Given the description of an element on the screen output the (x, y) to click on. 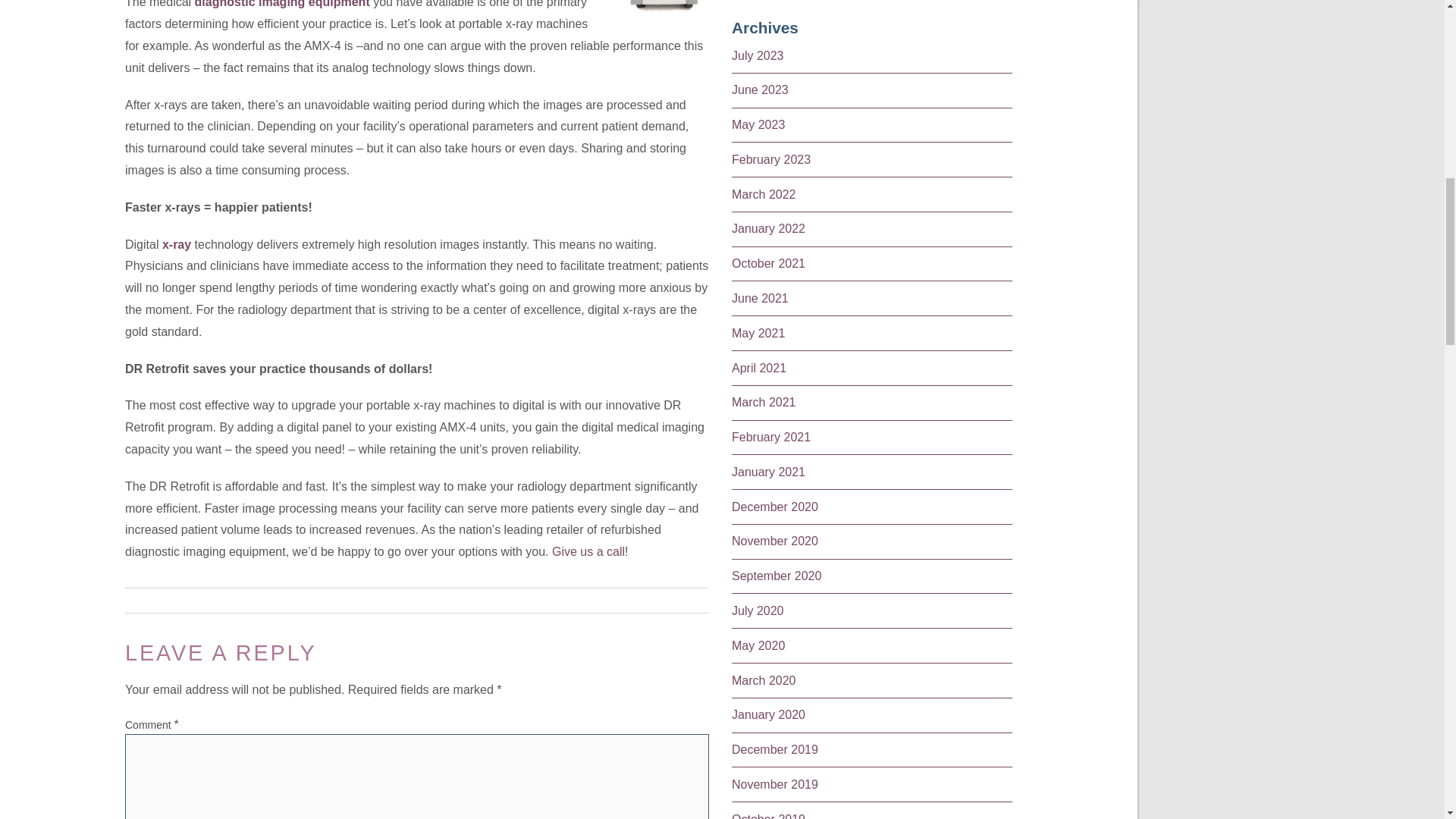
July 2023 (758, 55)
March 2022 (764, 194)
June 2021 (760, 297)
May 2021 (758, 332)
January 2022 (768, 228)
diagnostic imaging equipment (282, 4)
Give us a call (587, 551)
x-ray (174, 244)
May 2023 (758, 124)
October 2021 (768, 263)
February 2023 (771, 159)
June 2023 (760, 89)
